Given the description of an element on the screen output the (x, y) to click on. 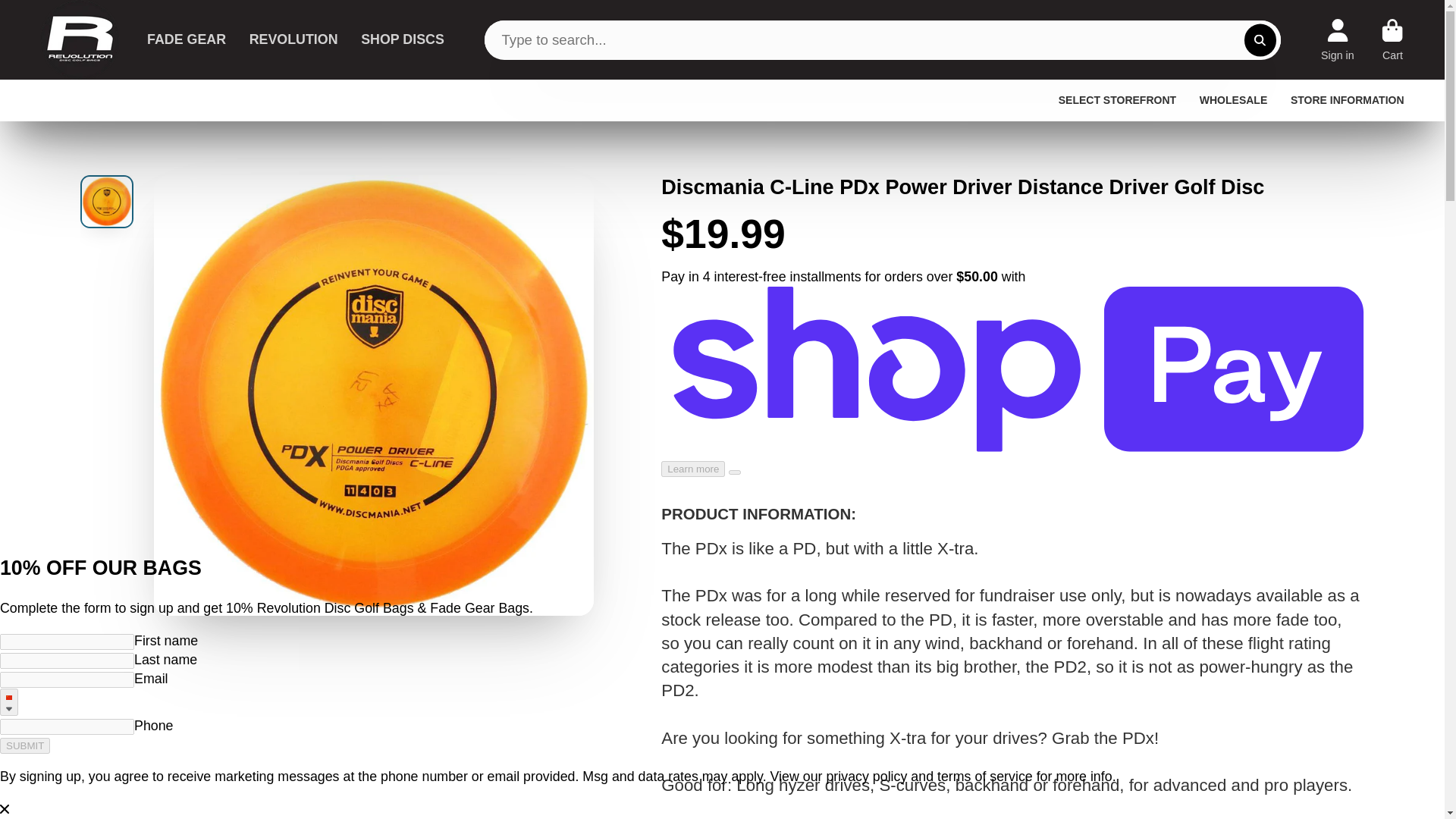
SHOP DISCS (402, 39)
REVOLUTION (292, 39)
FADE GEAR (186, 39)
Logo (79, 39)
